Given the description of an element on the screen output the (x, y) to click on. 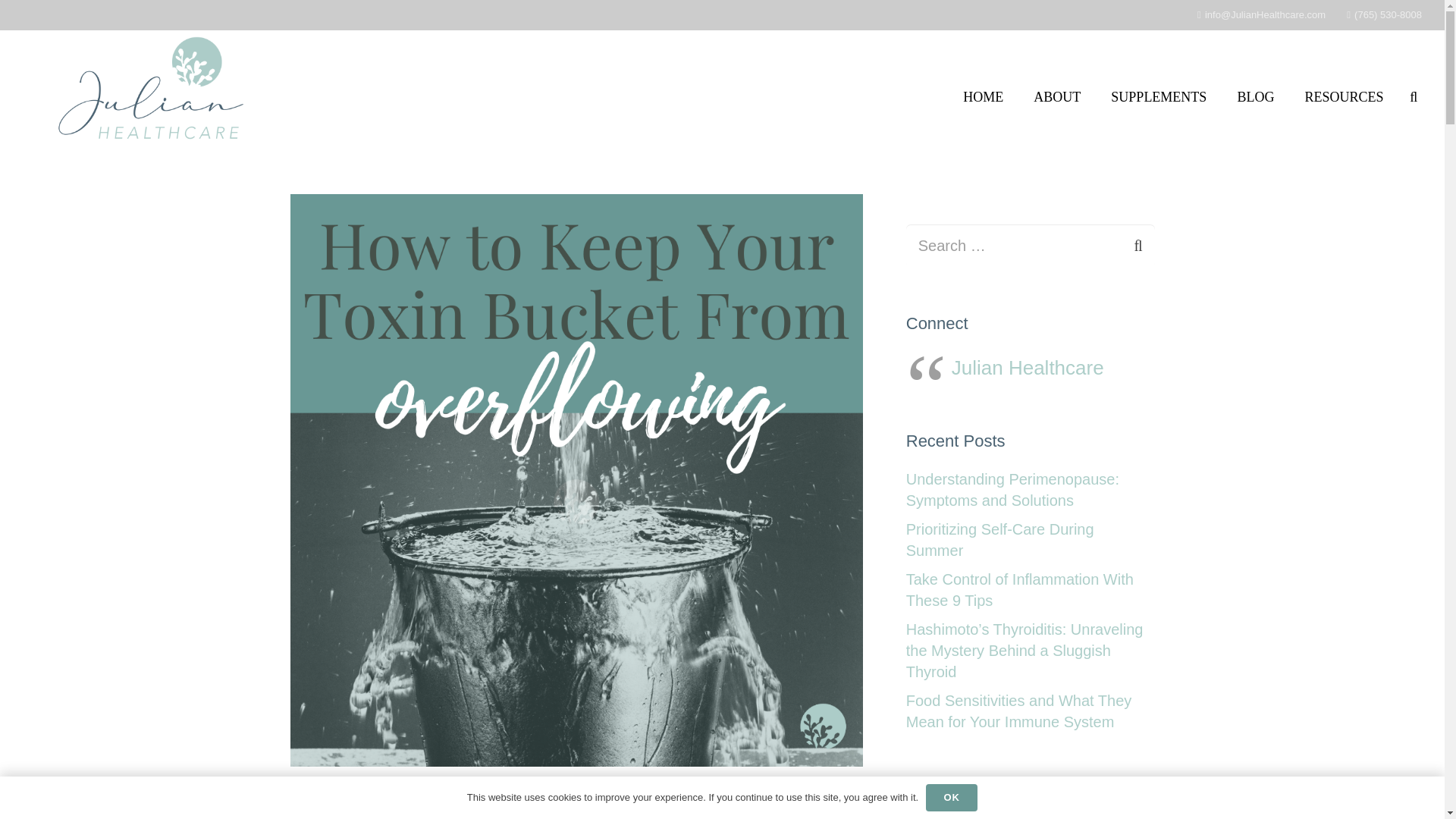
SUPPLEMENTS (1158, 96)
Julian Healthcare (1027, 367)
Understanding Perimenopause: Symptoms and Solutions (1012, 489)
Search (1125, 245)
